Given the description of an element on the screen output the (x, y) to click on. 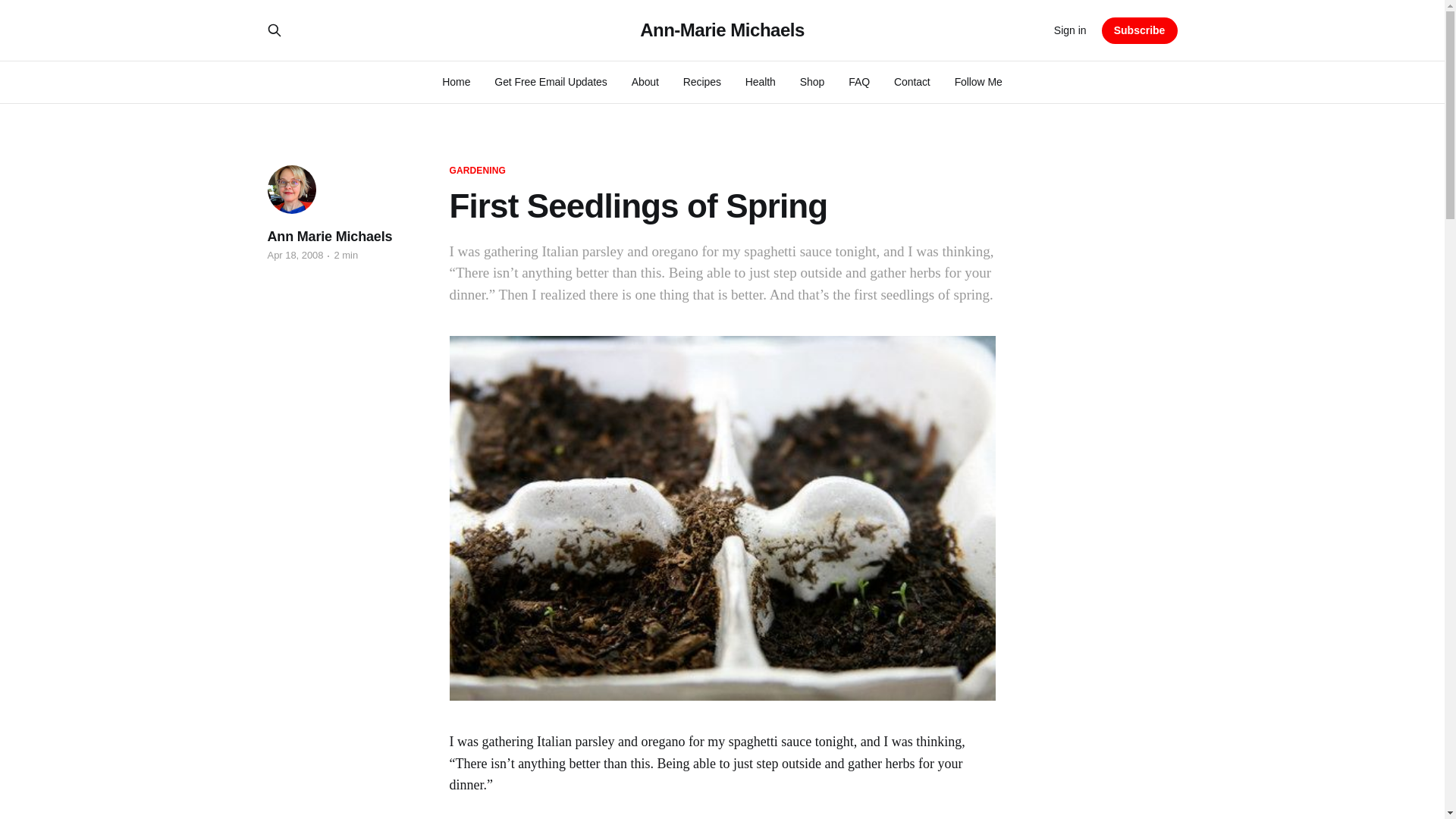
Ann Marie Michaels (328, 236)
Subscribe (1139, 29)
Ann-Marie Michaels (722, 30)
Recipes (701, 81)
Health (760, 81)
Shop (811, 81)
GARDENING (476, 170)
Contact (911, 81)
Follow Me (979, 81)
FAQ (858, 81)
Home (456, 81)
Sign in (1070, 30)
Get Free Email Updates (551, 81)
About (645, 81)
